Given the description of an element on the screen output the (x, y) to click on. 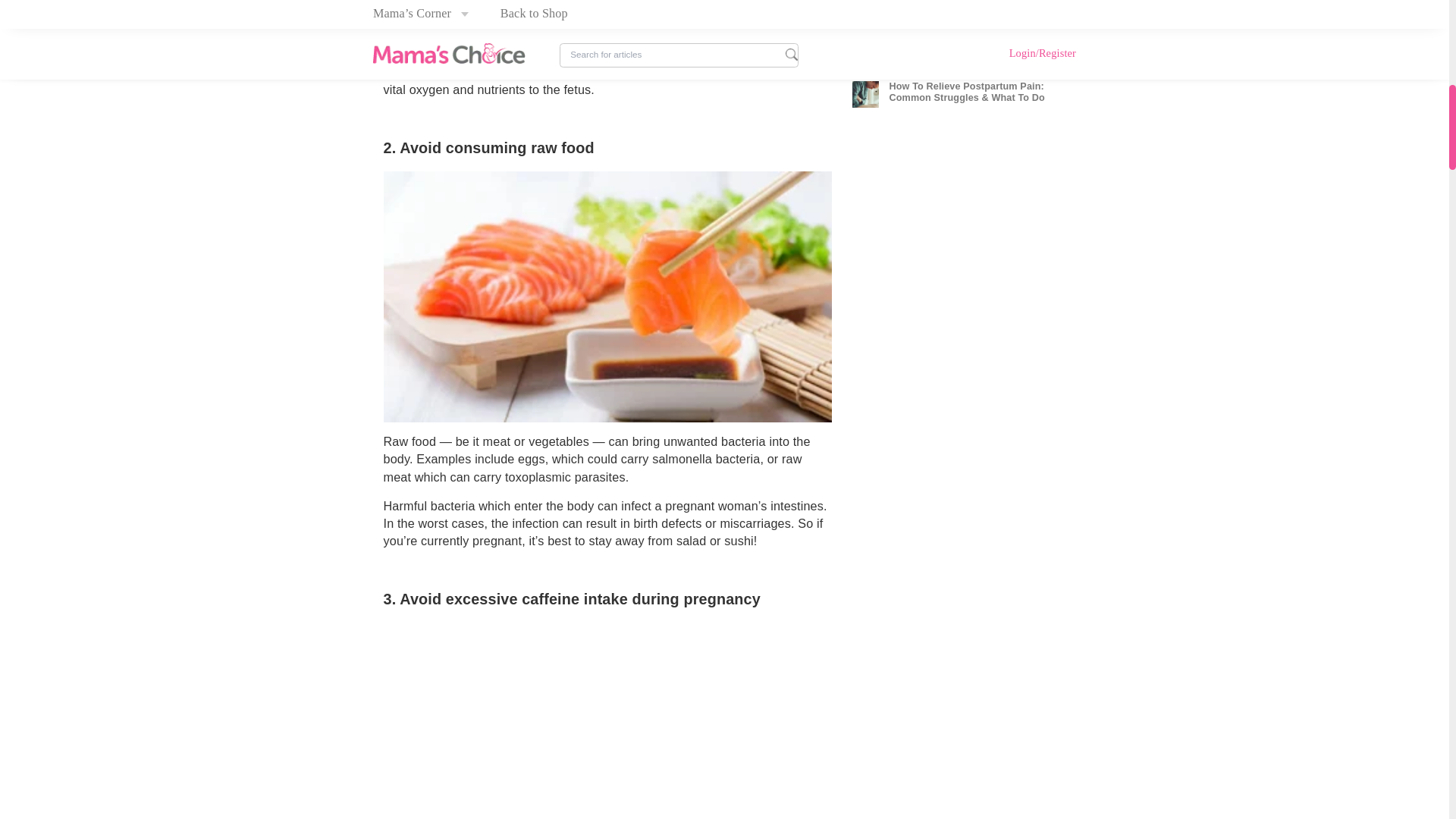
How Oxytocin Massage Helps With Your Breastfeeding Journey (1064, 153)
How To Lose Postpartum Belly Fat Fast in 7 Ways (1064, 106)
